Given the description of an element on the screen output the (x, y) to click on. 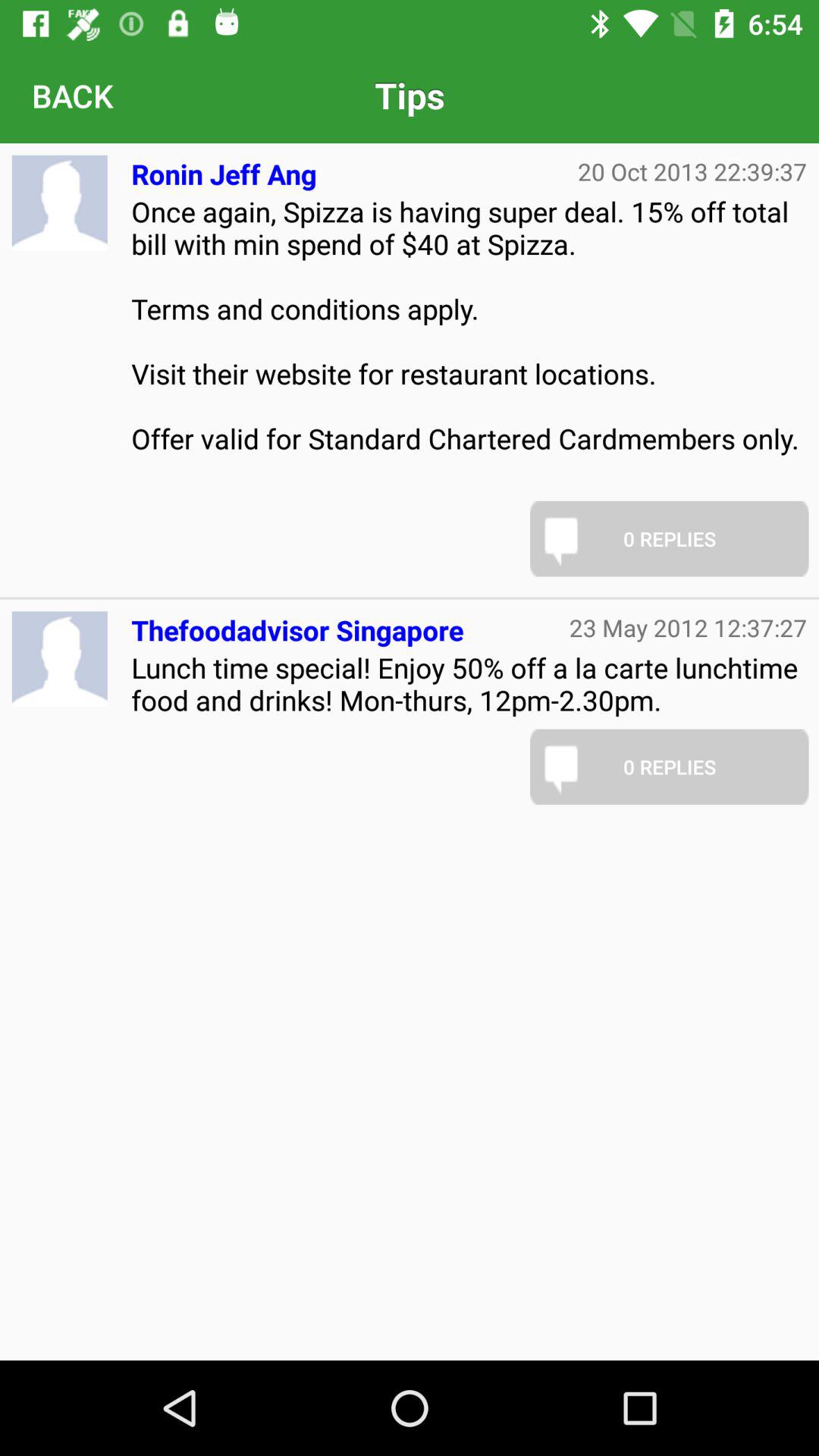
select the icon next to the 23 may 2012 (297, 623)
